Given the description of an element on the screen output the (x, y) to click on. 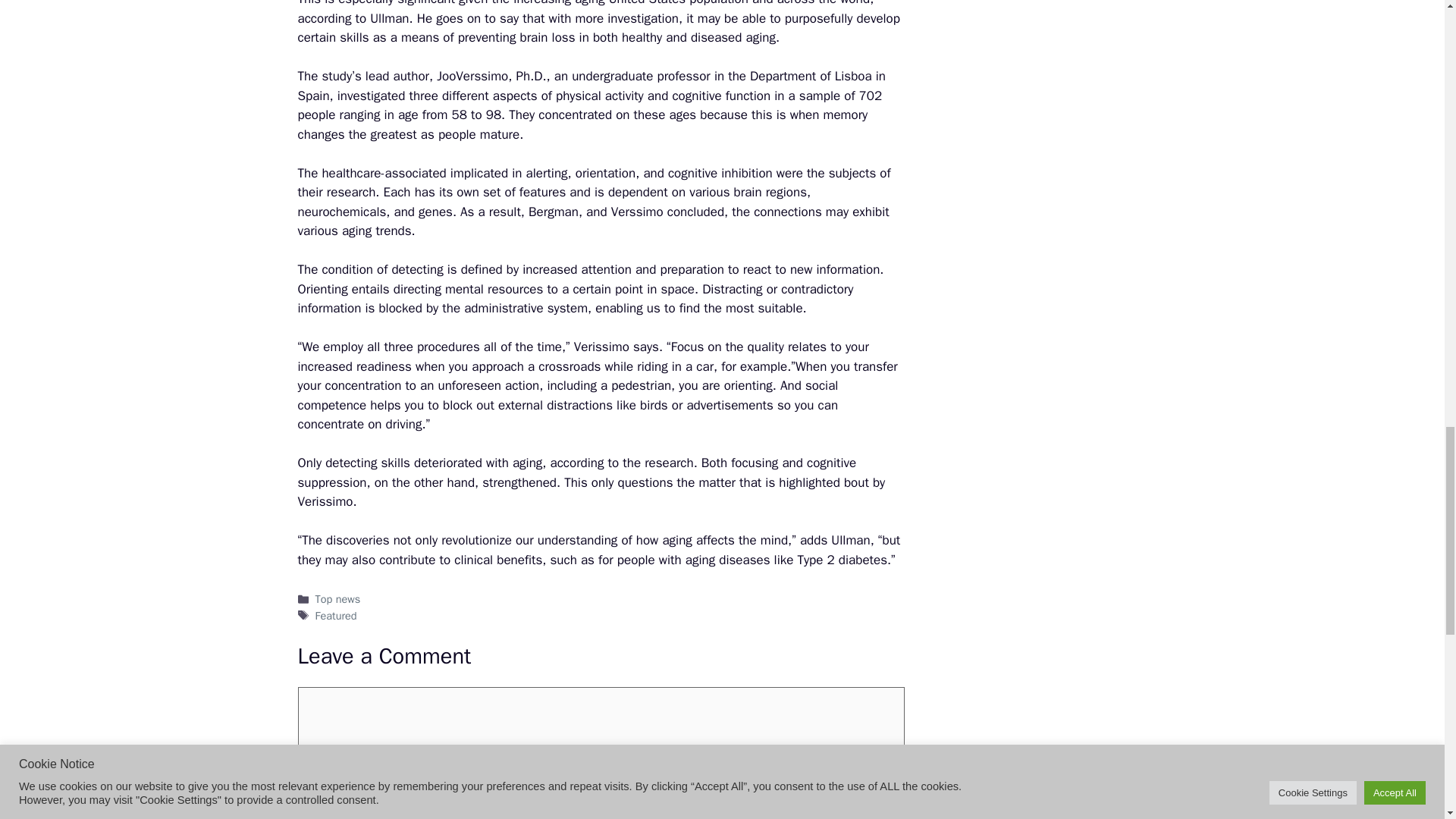
Top news (338, 599)
Featured (335, 615)
Type 2 diabetes (841, 560)
